Given the description of an element on the screen output the (x, y) to click on. 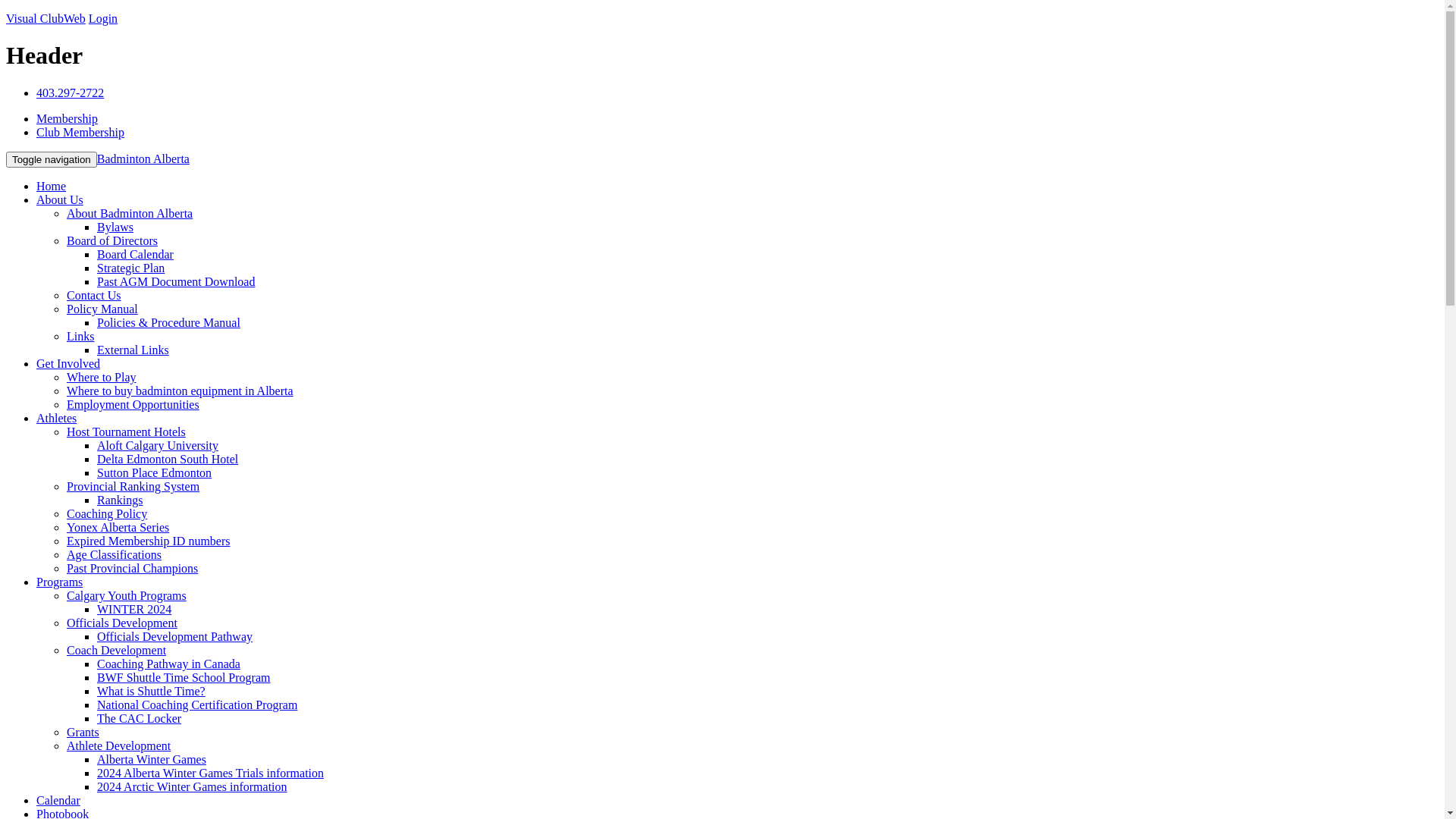
Sutton Place Edmonton Element type: text (154, 472)
Board of Directors Element type: text (111, 240)
Login Element type: text (102, 18)
External Links Element type: text (133, 349)
The CAC Locker Element type: text (139, 718)
Where to Play Element type: text (101, 376)
Rankings Element type: text (119, 499)
Past Provincial Champions Element type: text (131, 567)
What is Shuttle Time? Element type: text (151, 690)
Bylaws Element type: text (115, 226)
Board Calendar Element type: text (135, 253)
Visual ClubWeb Element type: text (45, 18)
Coaching Policy Element type: text (106, 513)
Past AGM Document Download Element type: text (175, 281)
Calendar Element type: text (58, 799)
Home Element type: text (50, 185)
Get Involved Element type: text (68, 363)
Host Tournament Hotels Element type: text (125, 431)
Alberta Winter Games Element type: text (151, 759)
Officials Development Element type: text (121, 622)
Expired Membership ID numbers Element type: text (148, 540)
Calgary Youth Programs Element type: text (126, 595)
WINTER 2024 Element type: text (134, 608)
2024 Arctic Winter Games information Element type: text (192, 786)
Age Classifications Element type: text (113, 554)
BWF Shuttle Time School Program Element type: text (183, 677)
Programs Element type: text (59, 581)
Employment Opportunities Element type: text (132, 404)
Toggle navigation Element type: text (51, 159)
About Badminton Alberta Element type: text (129, 213)
Membership Element type: text (66, 118)
Policy Manual Element type: text (102, 308)
Where to buy badminton equipment in Alberta Element type: text (179, 390)
Coach Development Element type: text (116, 649)
Strategic Plan Element type: text (130, 267)
Yonex Alberta Series Element type: text (117, 526)
Contact Us Element type: text (93, 294)
Officials Development Pathway Element type: text (174, 636)
Policies & Procedure Manual Element type: text (168, 322)
Delta Edmonton South Hotel Element type: text (167, 458)
Grants Element type: text (82, 731)
Athletes Element type: text (56, 417)
About Us Element type: text (59, 199)
Badminton Alberta Element type: text (143, 158)
2024 Alberta Winter Games Trials information Element type: text (210, 772)
Provincial Ranking System Element type: text (132, 486)
Athlete Development Element type: text (118, 745)
National Coaching Certification Program Element type: text (197, 704)
Links Element type: text (80, 335)
Aloft Calgary University Element type: text (157, 445)
403.297-2722 Element type: text (69, 92)
Coaching Pathway in Canada Element type: text (168, 663)
Club Membership Element type: text (80, 131)
